Given the description of an element on the screen output the (x, y) to click on. 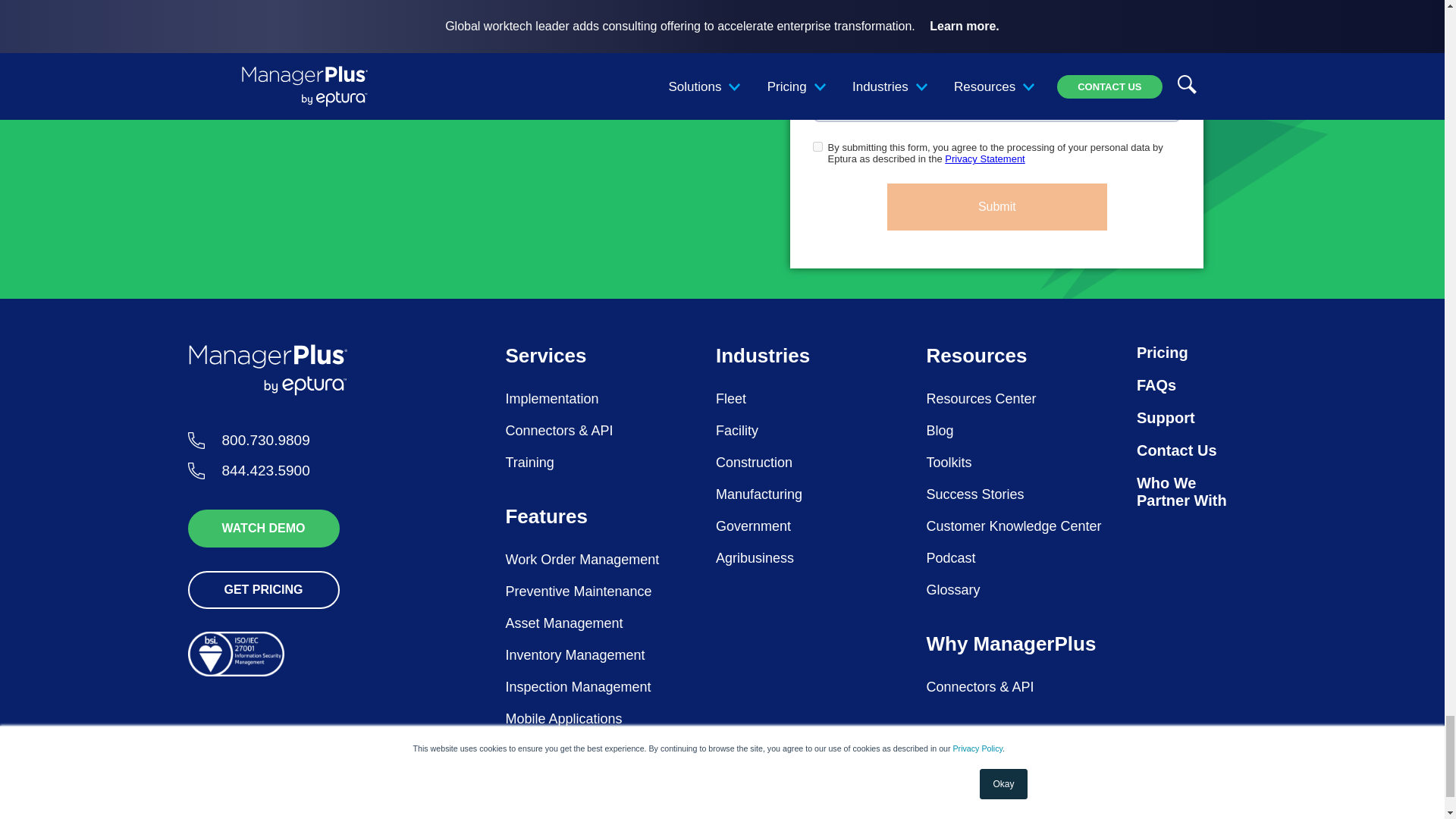
yes (817, 146)
